Given the description of an element on the screen output the (x, y) to click on. 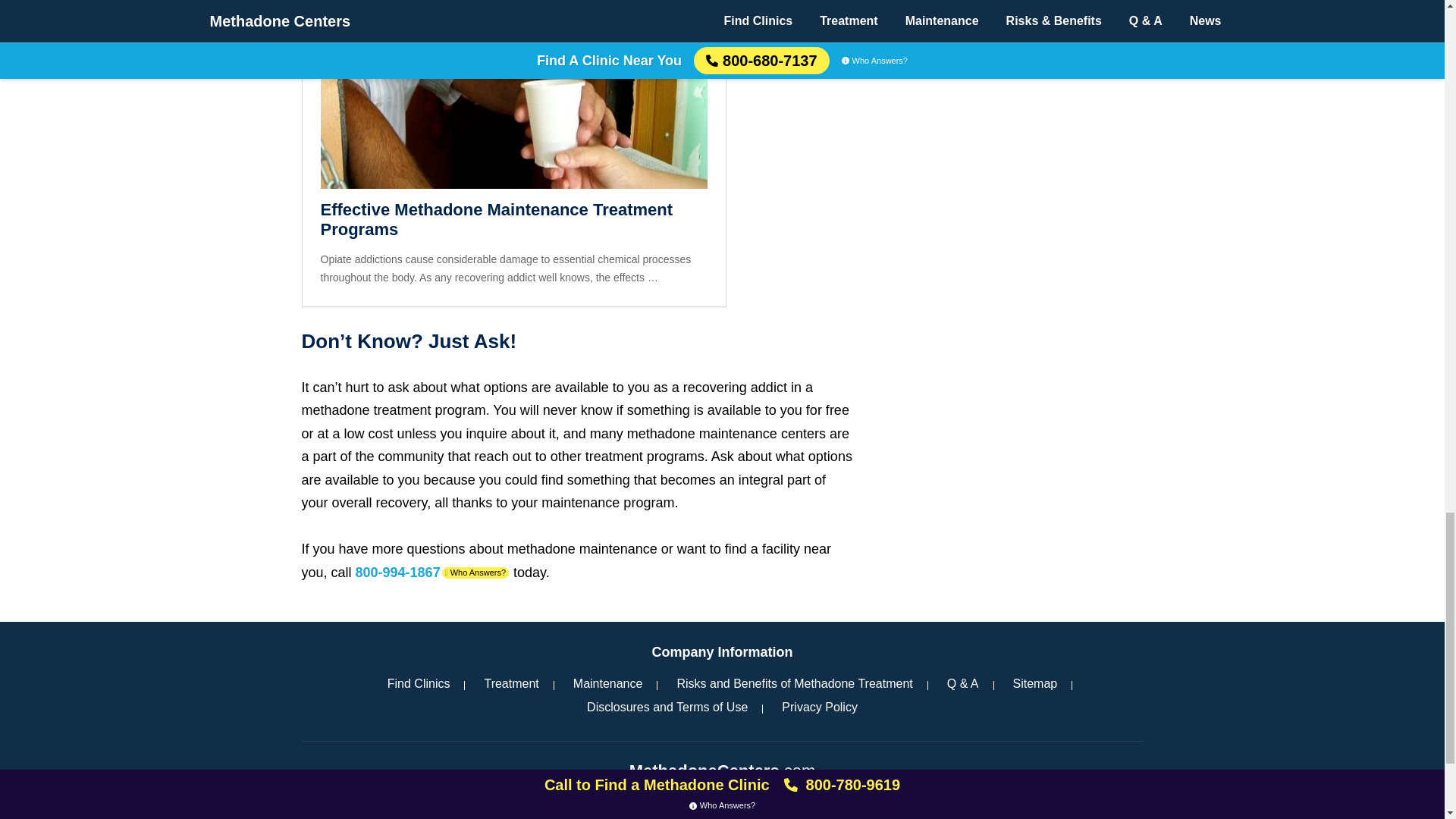
Treatment (511, 683)
Effective Methadone Maintenance Treatment Programs (513, 219)
Find Clinics (419, 683)
800-994-1867 (398, 572)
MethadoneCenters.com (721, 770)
Risks and Benefits of Methadone Treatment (794, 683)
Disclosures and Terms of Use (667, 706)
Maintenance (608, 683)
Effective Methadone Maintenance Treatment Programs (513, 219)
Sitemap (1035, 683)
Privacy Policy (819, 706)
